Given the description of an element on the screen output the (x, y) to click on. 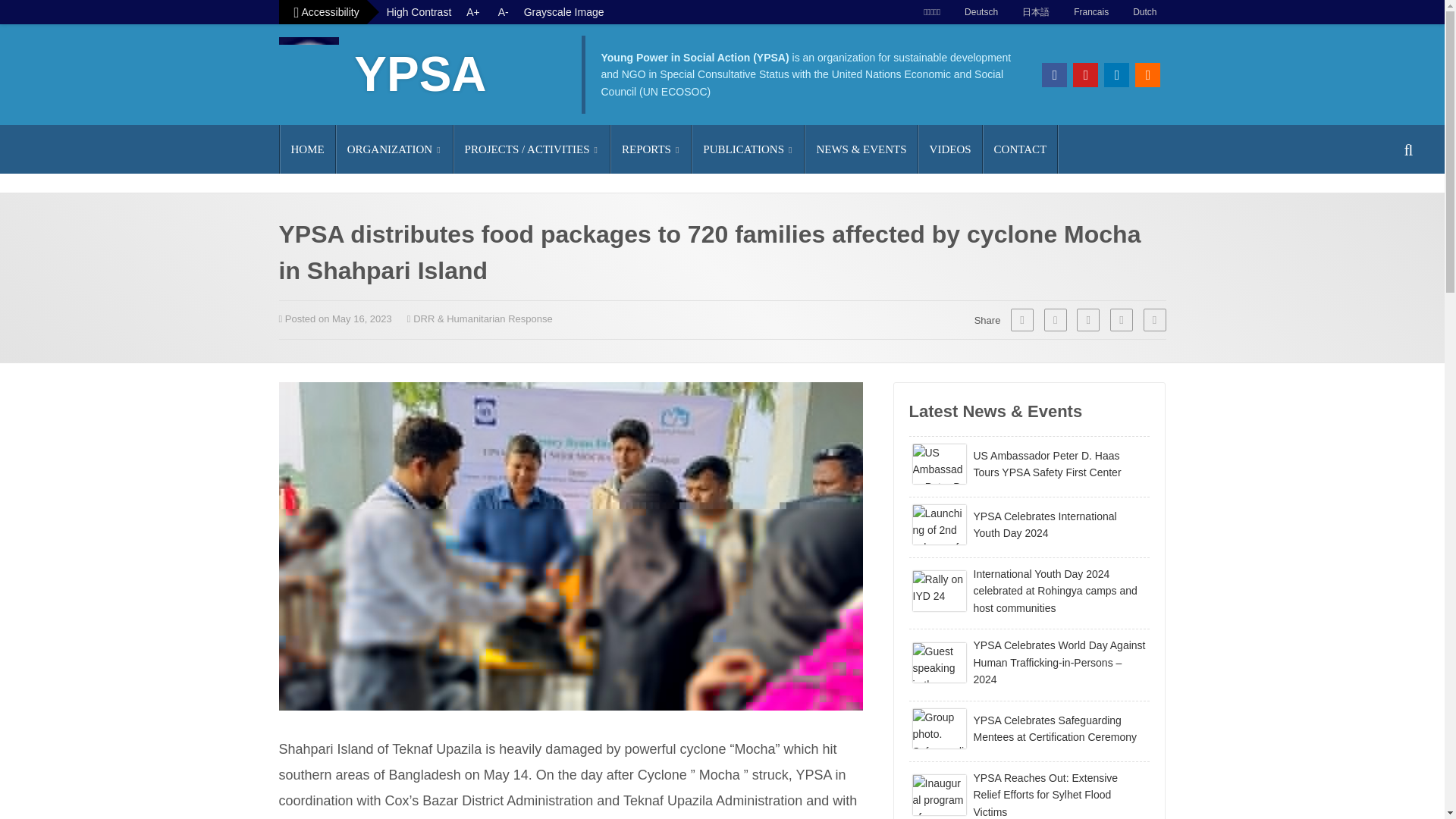
Grayscale Image (563, 12)
Decrease text size (503, 12)
Share on Whatsapp (1055, 319)
Francais (1088, 12)
Deutsch (978, 12)
Share on Facebook (1021, 319)
RSS Feed (1147, 74)
Share on Twitter (1088, 319)
ORGANIZATION (394, 149)
High Contrast (419, 12)
